Given the description of an element on the screen output the (x, y) to click on. 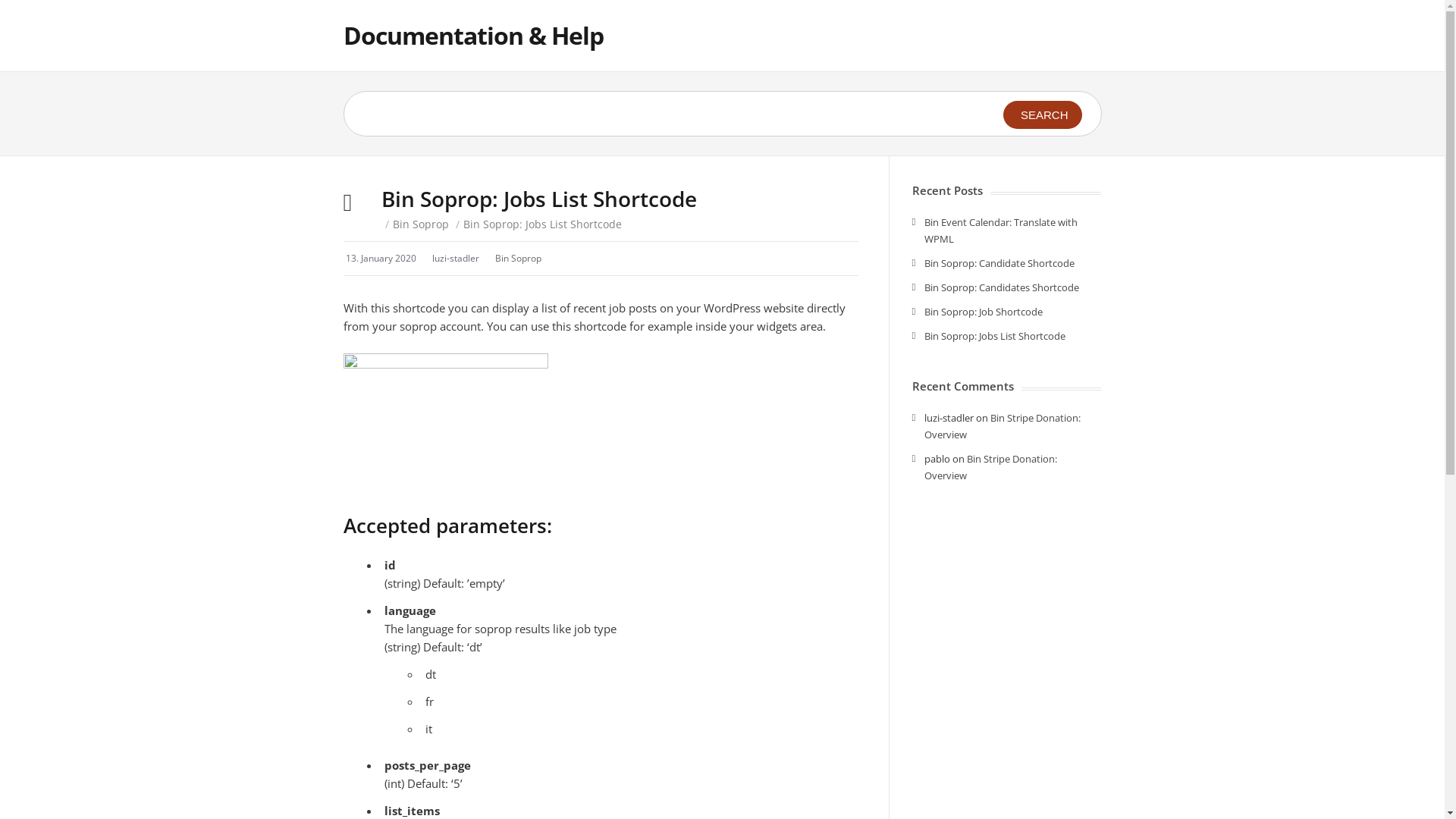
Bin Soprop: Candidate Shortcode Element type: text (998, 262)
Bin Soprop: Job Shortcode Element type: text (982, 311)
Bin Soprop: Candidates Shortcode Element type: text (1000, 287)
Bin Event Calendar: Translate with WPML Element type: text (999, 230)
Bin Stripe Donation: Overview Element type: text (1001, 426)
Bin Stripe Donation: Overview Element type: text (989, 466)
SEARCH Element type: text (1042, 114)
Bin Soprop Element type: text (517, 257)
Bin Soprop Element type: text (420, 223)
Documentation & Help Element type: text (472, 34)
Bin Soprop: Jobs List Shortcode Element type: text (993, 335)
